Given the description of an element on the screen output the (x, y) to click on. 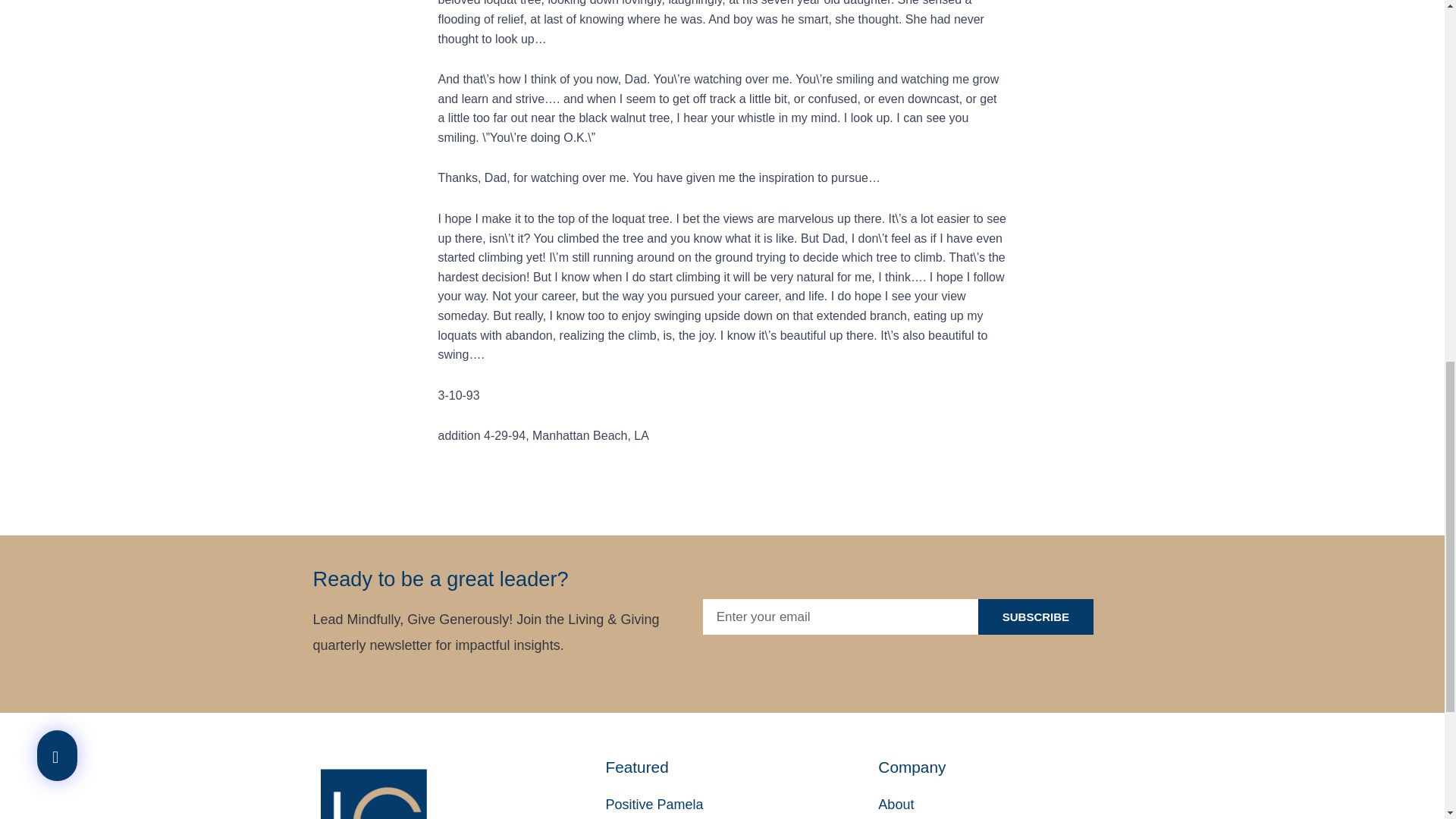
About (1014, 804)
SUBSCRIBE (1035, 616)
Positive Pamela (741, 804)
